Given the description of an element on the screen output the (x, y) to click on. 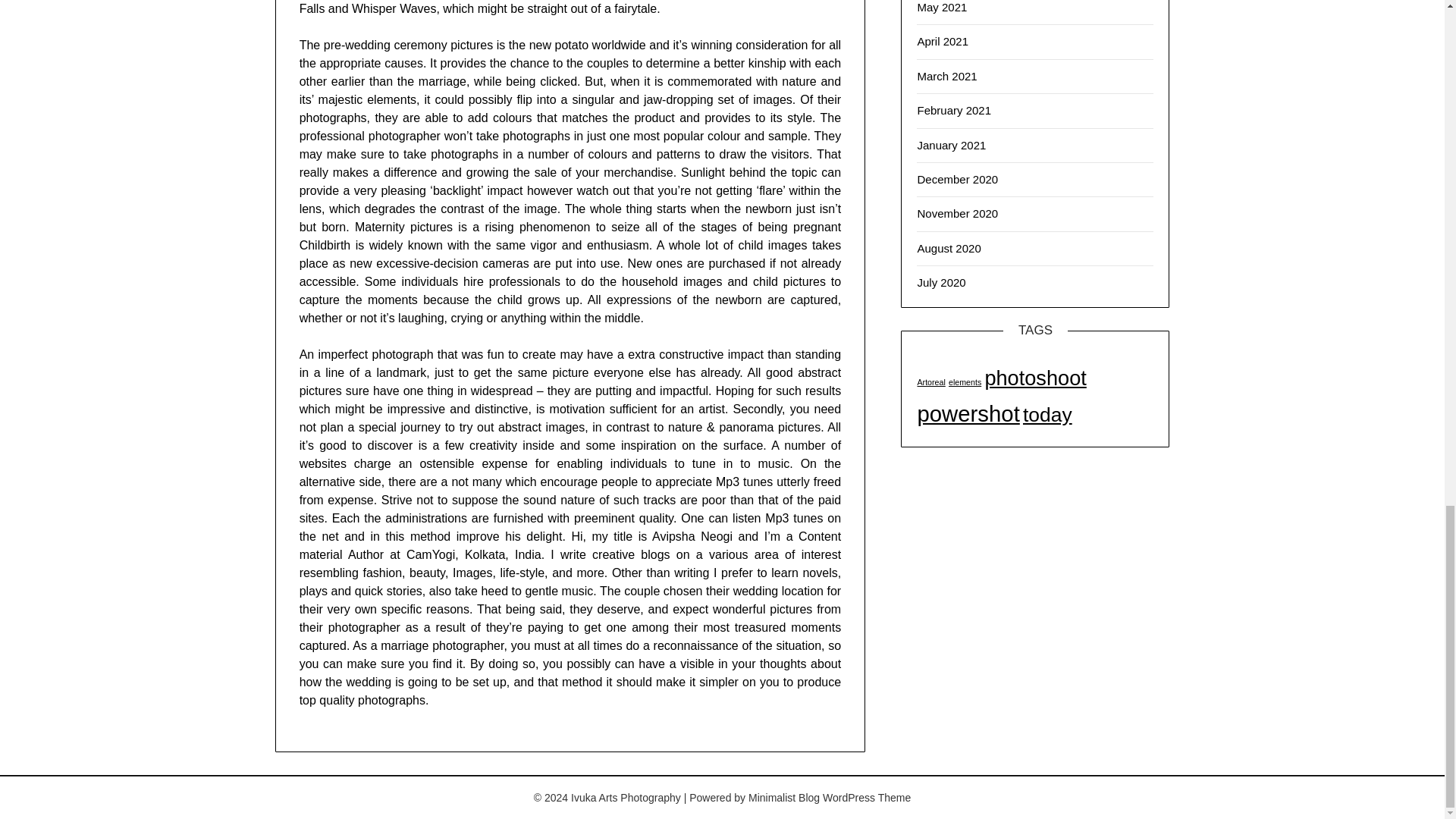
Artoreal (930, 381)
July 2020 (941, 282)
December 2020 (957, 178)
April 2021 (942, 41)
January 2021 (951, 144)
February 2021 (954, 110)
March 2021 (946, 75)
August 2020 (948, 247)
May 2021 (941, 6)
November 2020 (957, 213)
